Given the description of an element on the screen output the (x, y) to click on. 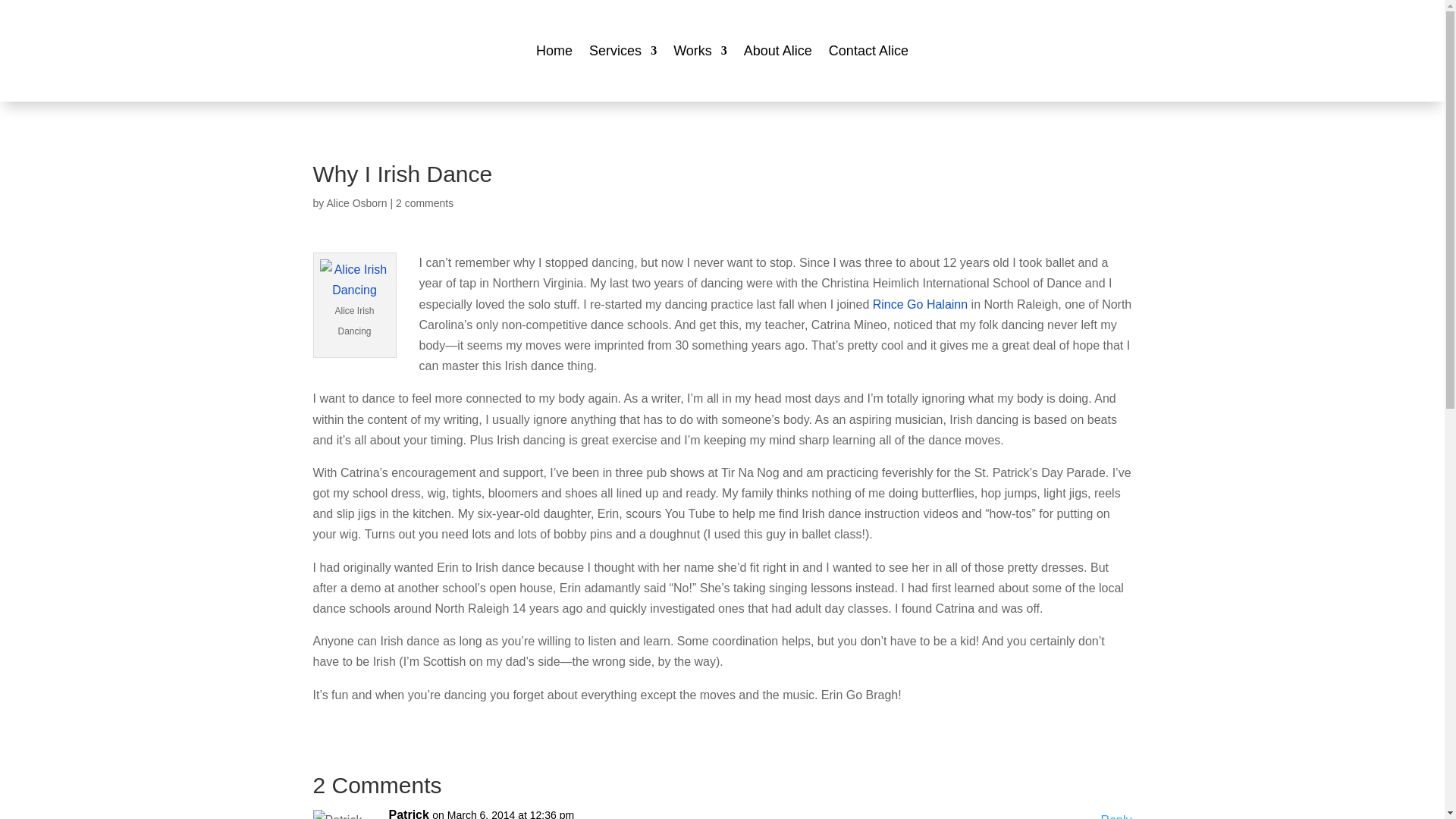
About Alice (778, 50)
Services (622, 50)
Alice Osborn (356, 203)
Rince Go Halainn (920, 304)
2 comments (424, 203)
Posts by Alice Osborn (356, 203)
Reply (1116, 814)
Contact Alice (868, 50)
